Given the description of an element on the screen output the (x, y) to click on. 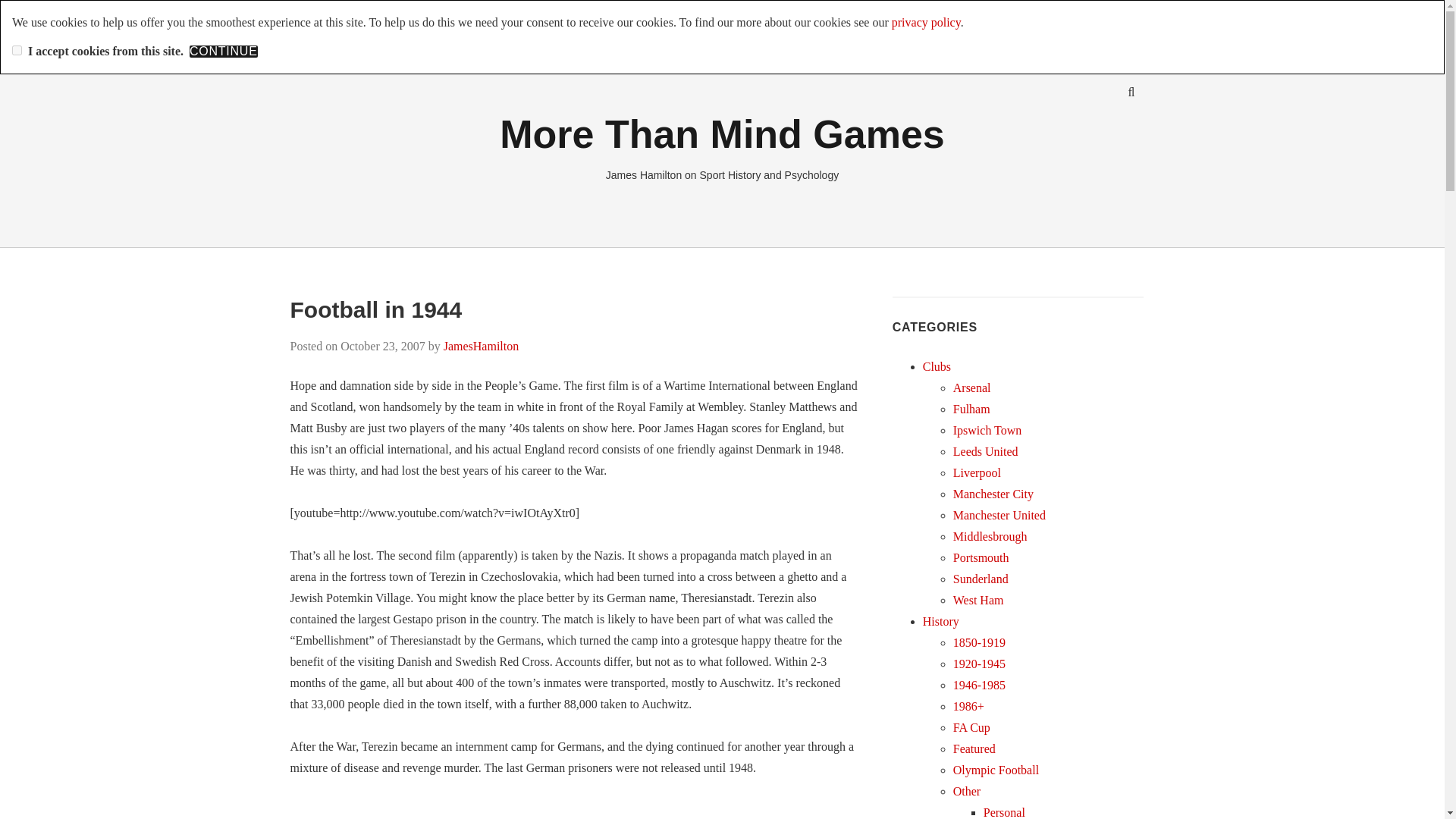
Other (966, 790)
Featured (974, 748)
Fulham (971, 408)
More Than Mind Games (721, 134)
FA Cup (971, 727)
privacy policy (925, 21)
Continue (223, 51)
Clubs (936, 366)
on (16, 50)
Leeds United (985, 451)
1946-1985 (979, 684)
Liverpool (977, 472)
Ipswich Town (987, 430)
Manchester United (999, 514)
1850-1919 (979, 642)
